Given the description of an element on the screen output the (x, y) to click on. 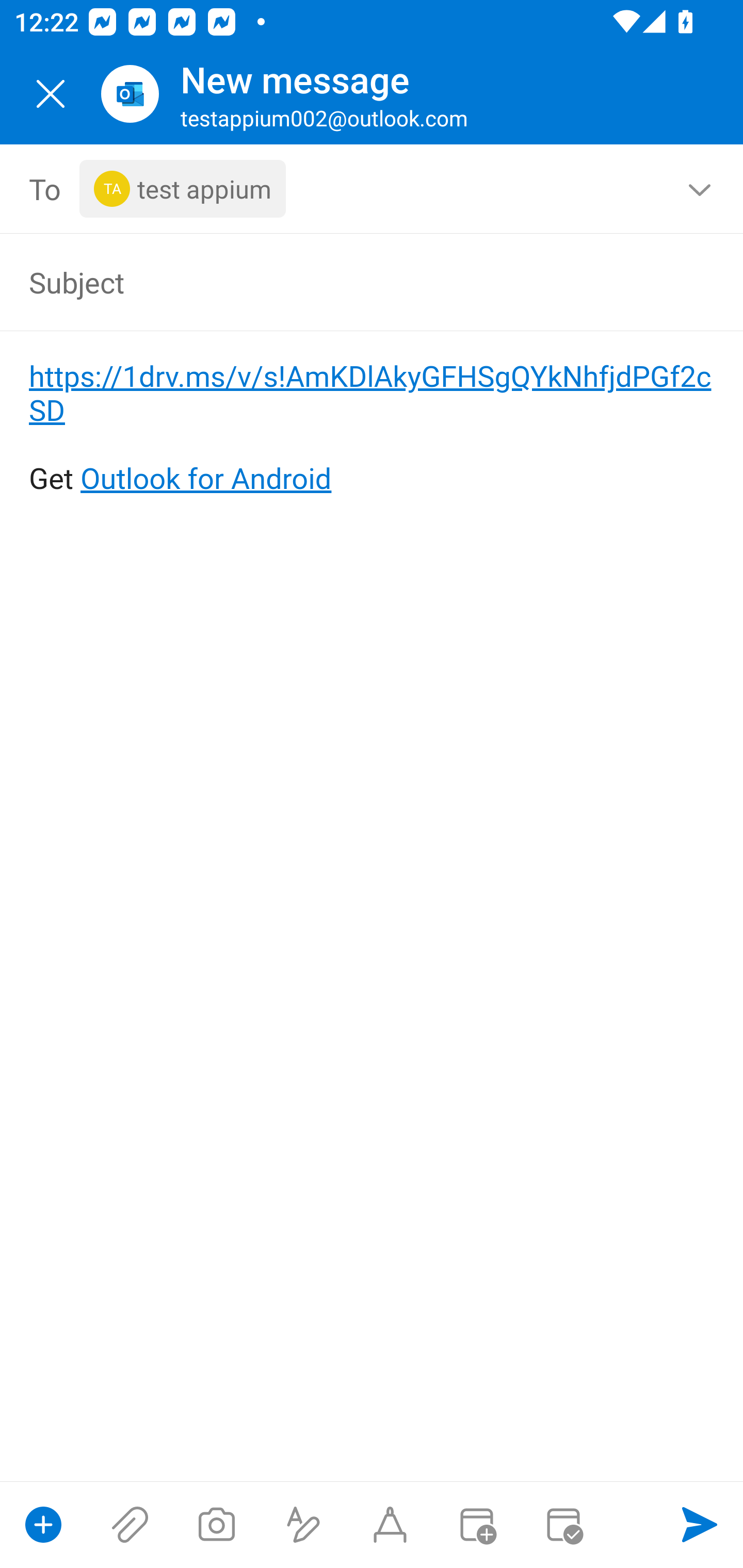
Close (50, 93)
Subject (342, 281)
Show compose options (43, 1524)
Attach files (129, 1524)
Take a photo (216, 1524)
Show formatting options (303, 1524)
Start Ink compose (389, 1524)
Convert to event (476, 1524)
Send availability (563, 1524)
Send (699, 1524)
